Given the description of an element on the screen output the (x, y) to click on. 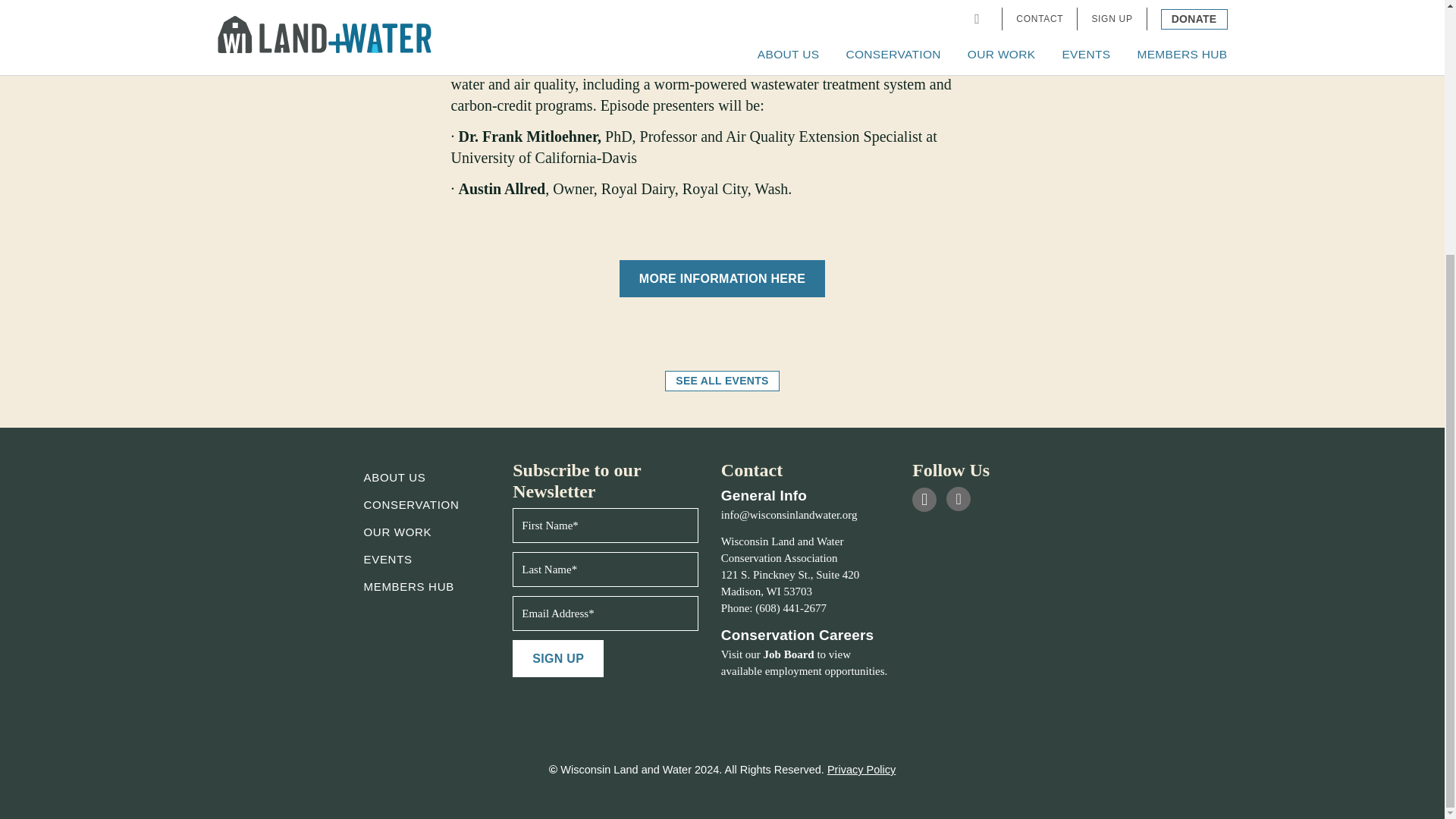
EVENTS (388, 558)
Privacy Policy (861, 769)
MORE INFORMATION HERE (722, 278)
OUR WORK (398, 531)
ABOUT US (395, 477)
Job Board (787, 654)
SEE ALL EVENTS (721, 381)
SIGN UP (558, 658)
MEMBERS HUB (409, 585)
CONSERVATION (412, 504)
